Given the description of an element on the screen output the (x, y) to click on. 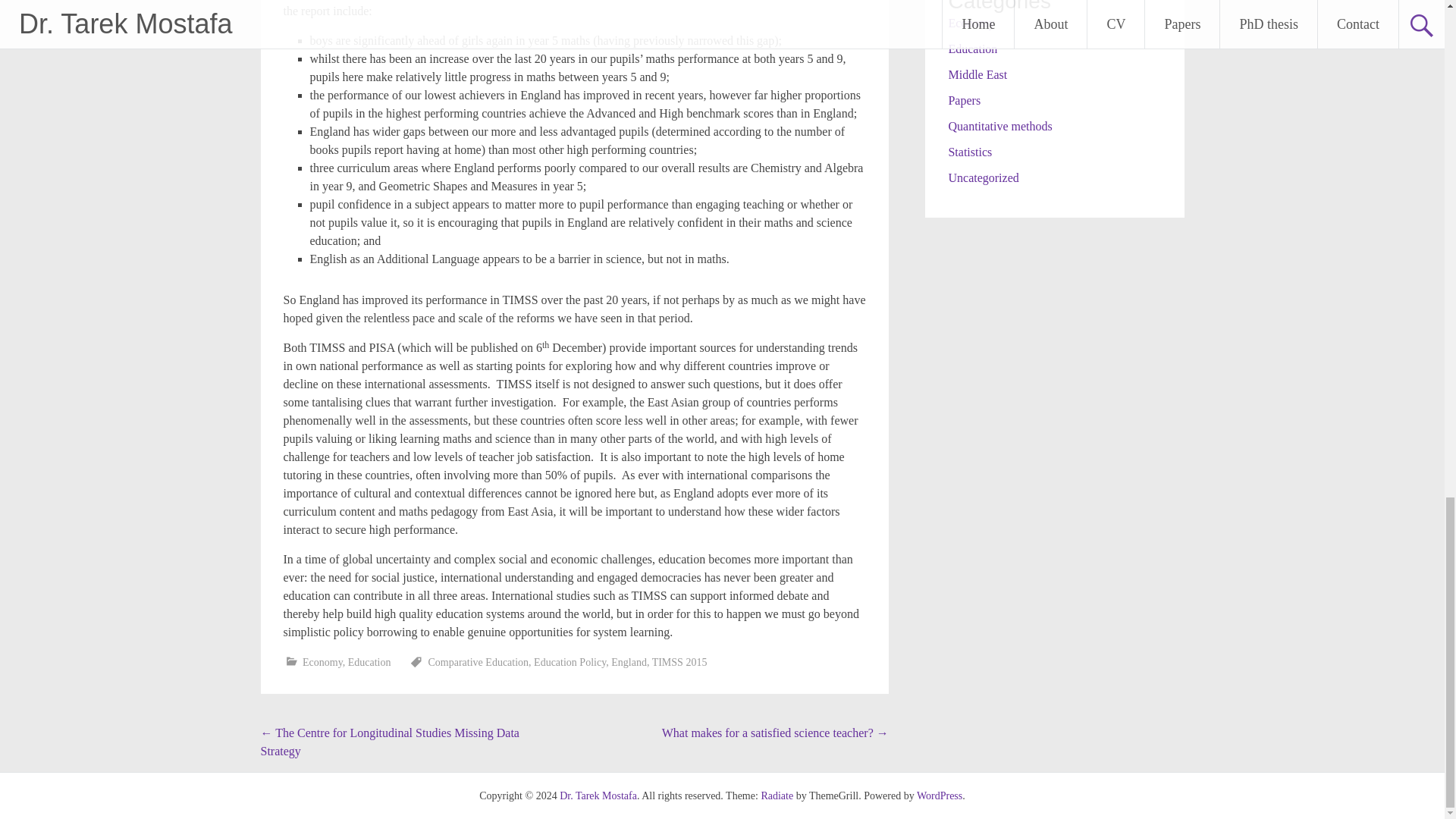
Education Policy (569, 662)
Dr. Tarek Mostafa (598, 795)
TIMSS 2015 (679, 662)
Education (369, 662)
WordPress (939, 795)
Economy (322, 662)
England (628, 662)
Radiate (776, 795)
Comparative Education (478, 662)
